Given the description of an element on the screen output the (x, y) to click on. 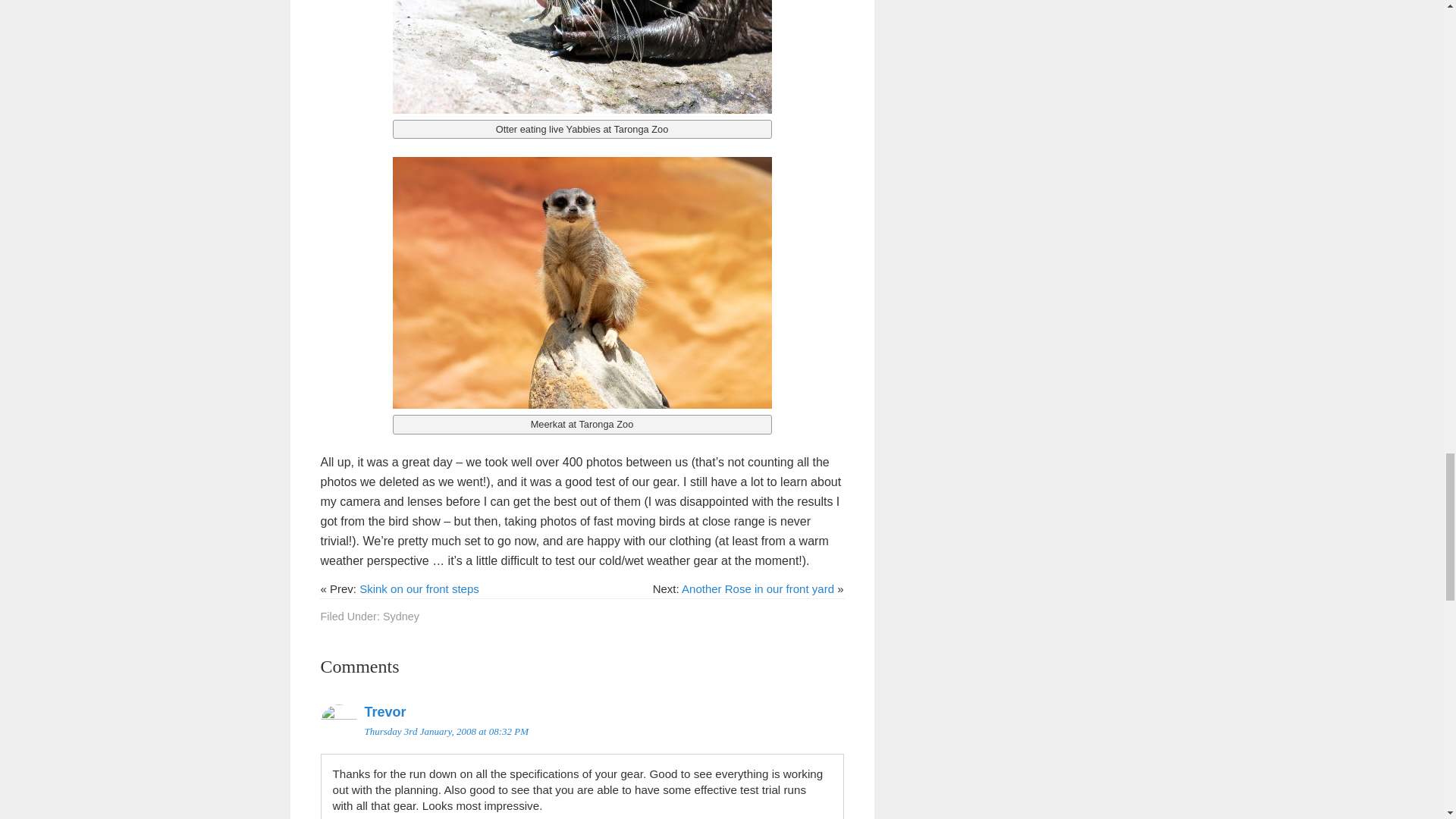
Sydney (400, 616)
Skink on our front steps (419, 588)
Thursday 3rd January, 2008 at 08:32 PM (446, 731)
Trevor (385, 711)
Another Rose in our front yard (757, 588)
